Given the description of an element on the screen output the (x, y) to click on. 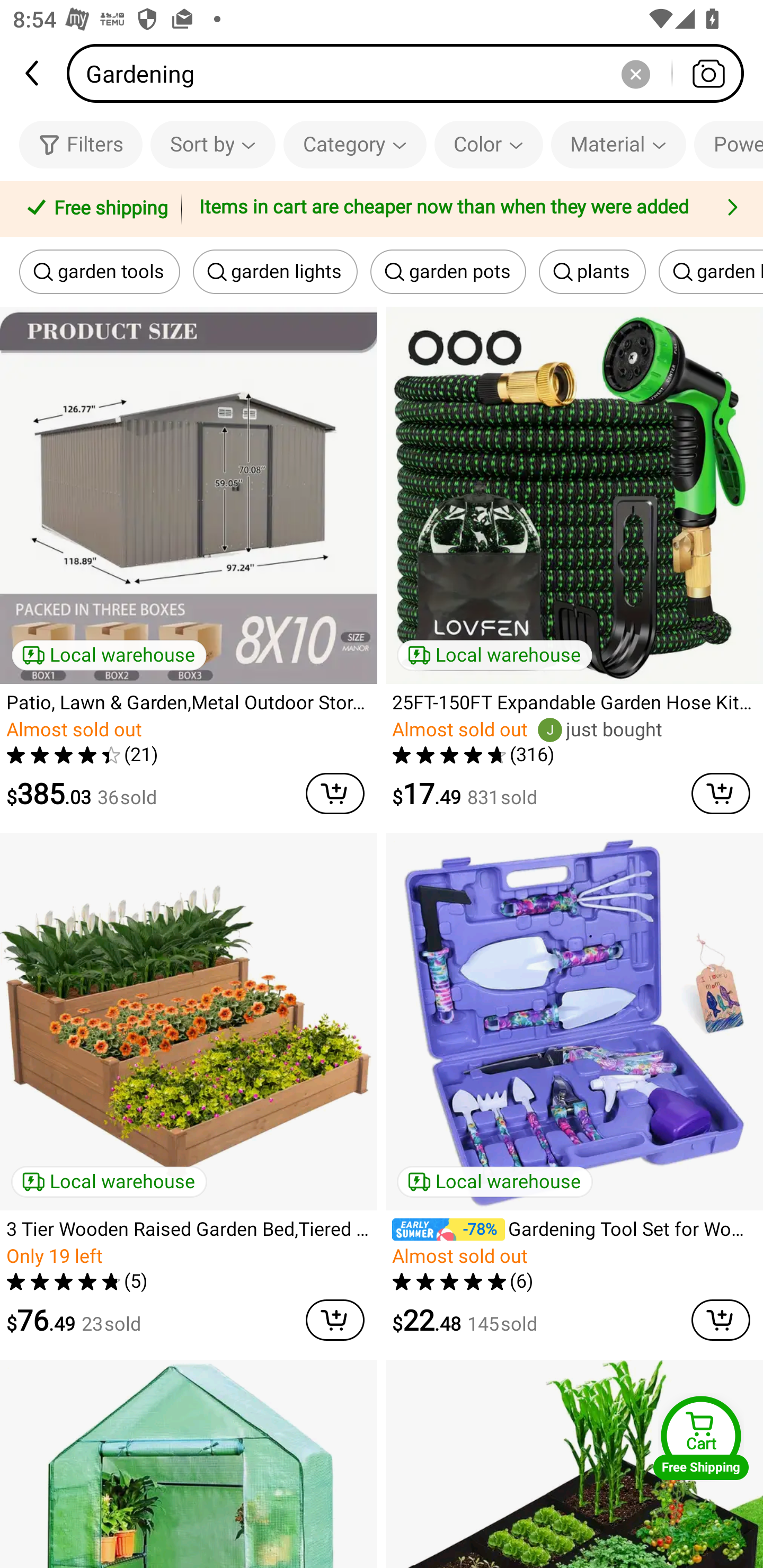
back (33, 72)
Gardening (411, 73)
Delete search history (635, 73)
Search by photo (708, 73)
Filters (80, 143)
Sort by (212, 143)
Category (354, 143)
Color (488, 143)
Material (617, 143)
Power Supply (728, 143)
 Free shipping (93, 208)
garden tools (99, 271)
garden lights (275, 271)
garden pots (448, 271)
plants (592, 271)
garden bed (710, 271)
Cart Free Shipping Cart (701, 1437)
